Given the description of an element on the screen output the (x, y) to click on. 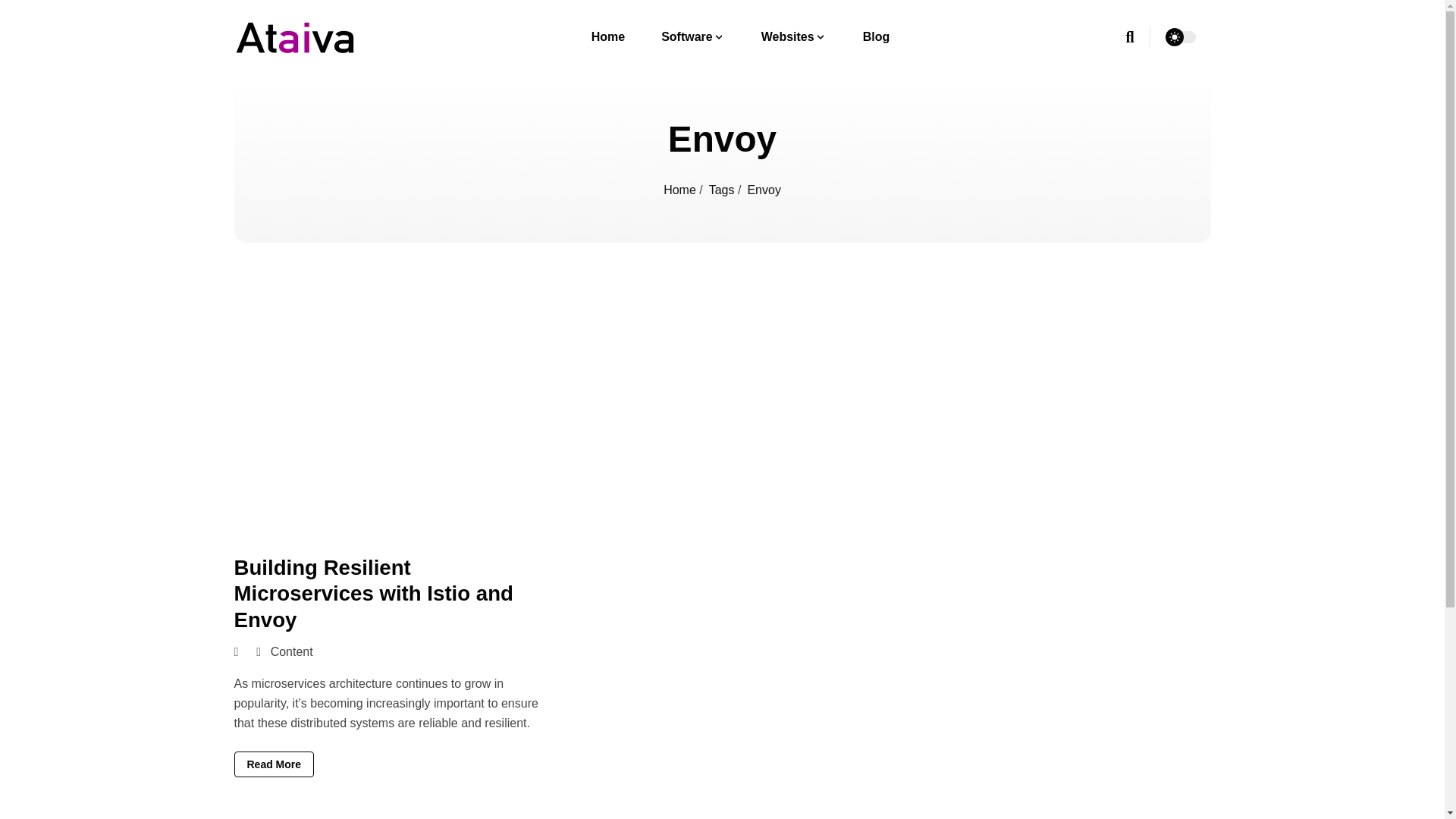
Blog (876, 37)
Read More (273, 764)
Home (607, 37)
Content (291, 651)
Tags (723, 189)
Building Resilient Microservices with Istio and Envoy (372, 593)
Home (680, 189)
